Given the description of an element on the screen output the (x, y) to click on. 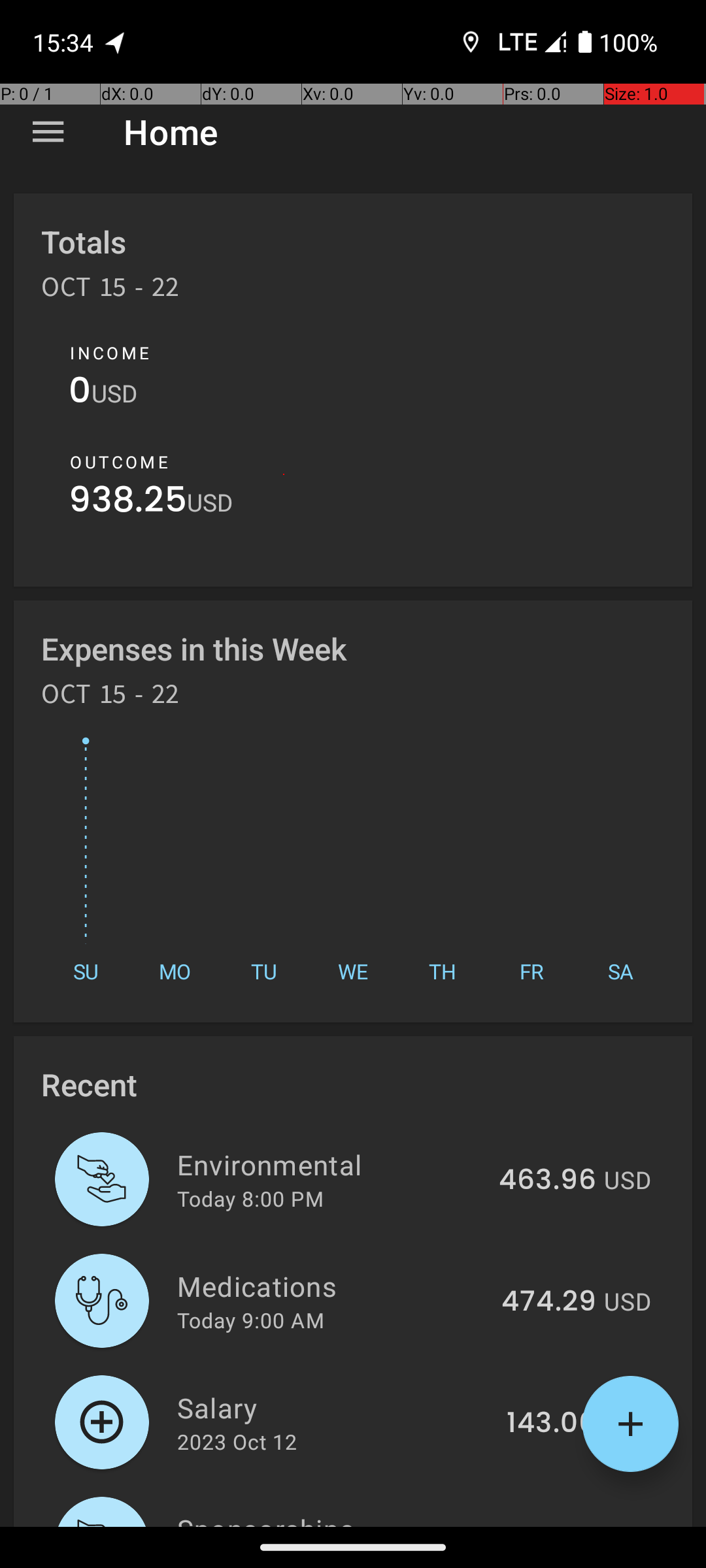
938.25 Element type: android.widget.TextView (127, 502)
Environmental Element type: android.widget.TextView (330, 1164)
463.96 Element type: android.widget.TextView (547, 1180)
Medications Element type: android.widget.TextView (331, 1285)
Today 9:00 AM Element type: android.widget.TextView (250, 1320)
474.29 Element type: android.widget.TextView (548, 1301)
Salary Element type: android.widget.TextView (334, 1407)
143.06 Element type: android.widget.TextView (550, 1423)
Sponsorships Element type: android.widget.TextView (334, 1518)
272.77 Element type: android.widget.TextView (551, 1524)
